Given the description of an element on the screen output the (x, y) to click on. 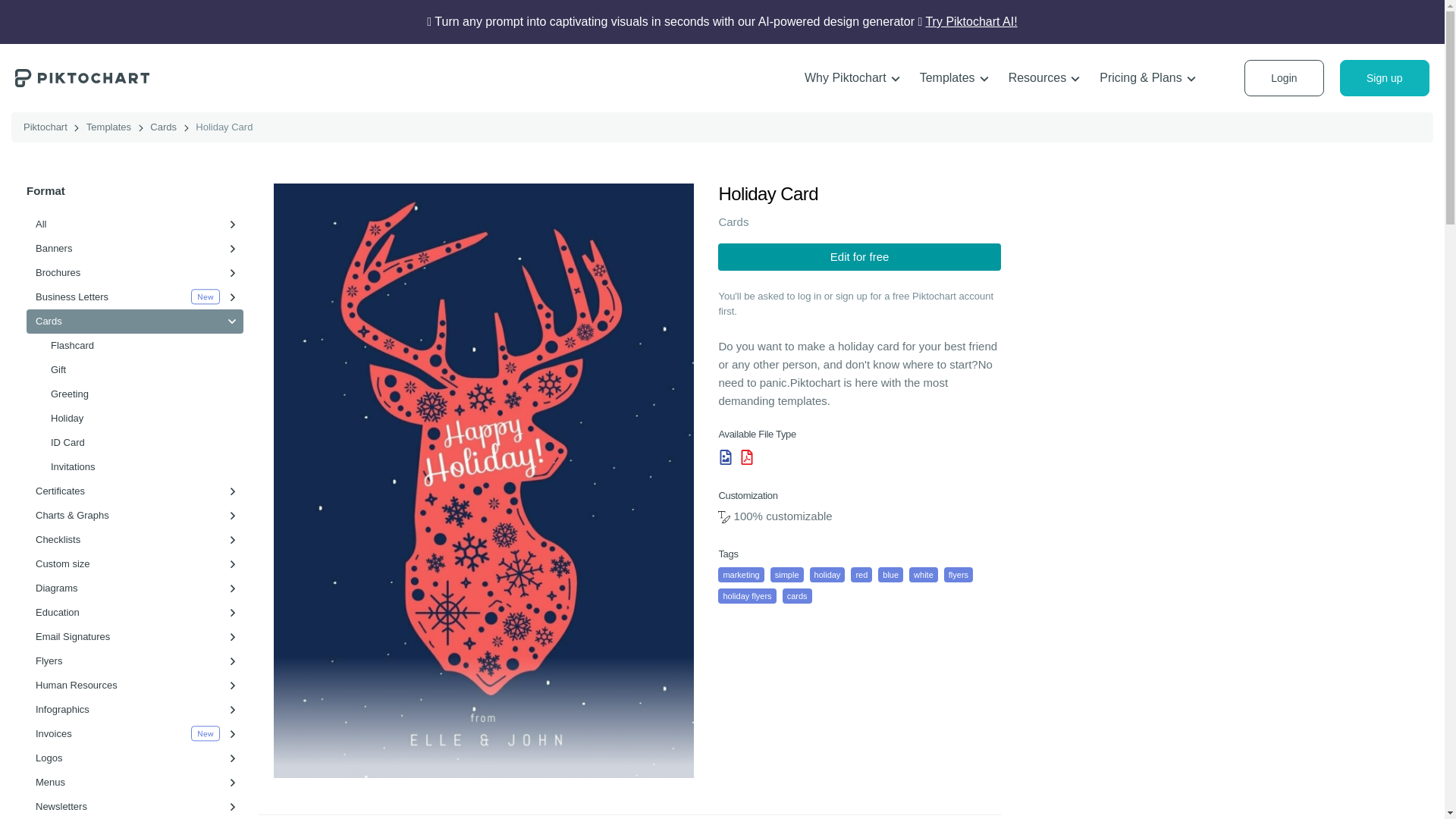
Why Piktochart (852, 78)
Try Piktochart AI! (970, 21)
Piktochart (81, 77)
Why Piktochart (852, 78)
